Given the description of an element on the screen output the (x, y) to click on. 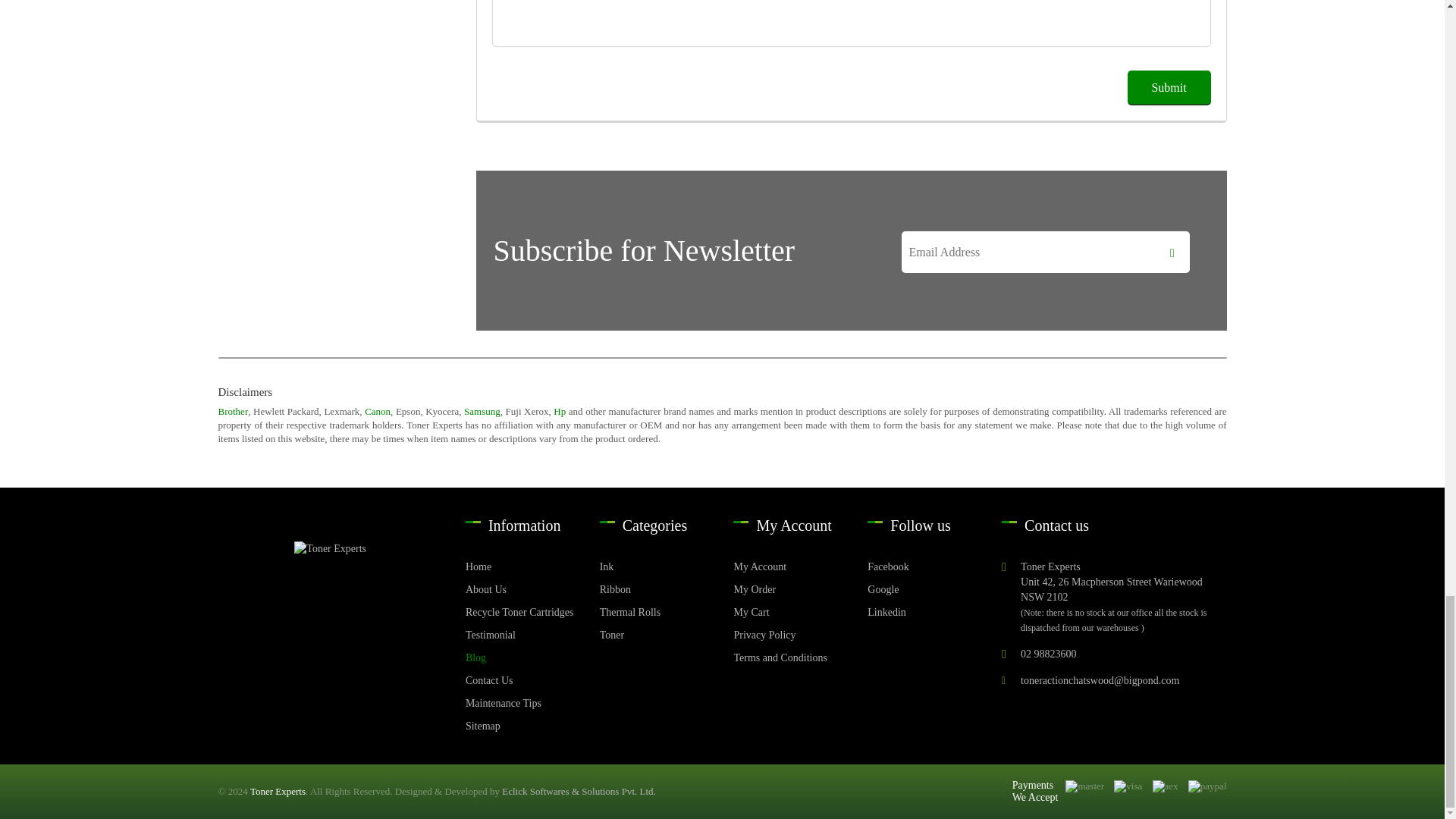
Recycle Toner Cartridges (520, 612)
Sitemap (520, 726)
Testimonial (520, 635)
eClick Softwares Pvt. Ltd. (579, 791)
About Us (520, 589)
Contact Us (520, 680)
Maintenance Tips (520, 703)
Blog (520, 657)
